Given the description of an element on the screen output the (x, y) to click on. 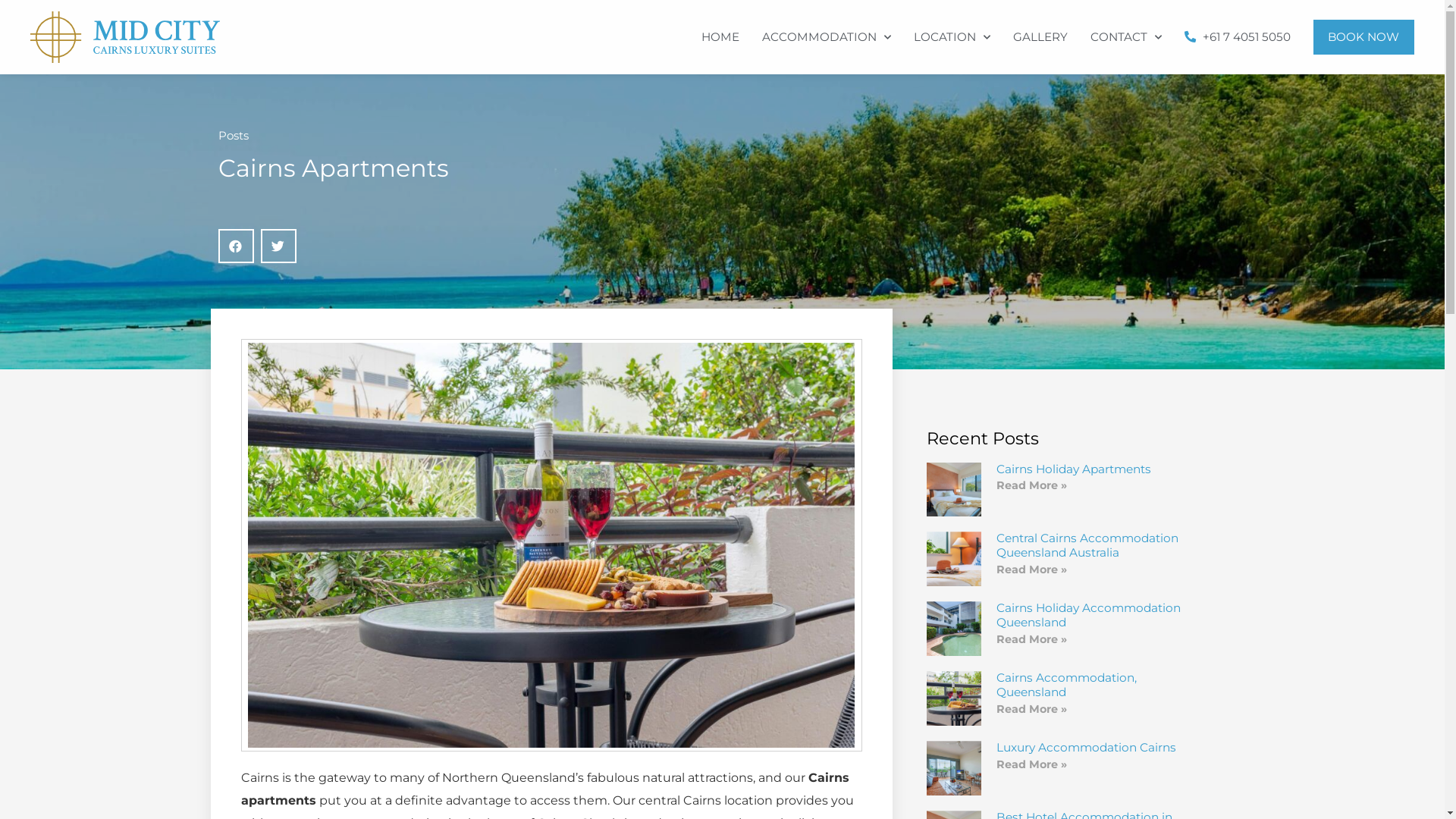
Central Cairns Accommodation Queensland Australia Element type: text (1087, 544)
CONTACT Element type: text (1125, 37)
GALLERY Element type: text (1039, 37)
+61 7 4051 5050 Element type: text (1236, 37)
Cairns Accommodation, Queensland Element type: text (1066, 684)
HOME Element type: text (720, 37)
Luxury Accommodation Cairns Element type: text (1086, 747)
Cairns Holiday Accommodation Queensland Element type: text (1088, 614)
LOCATION Element type: text (951, 37)
Cairns Holiday Apartments Element type: text (1073, 468)
ACCOMMODATION Element type: text (826, 37)
BOOK NOW Element type: text (1364, 36)
Posts Element type: text (233, 135)
